Given the description of an element on the screen output the (x, y) to click on. 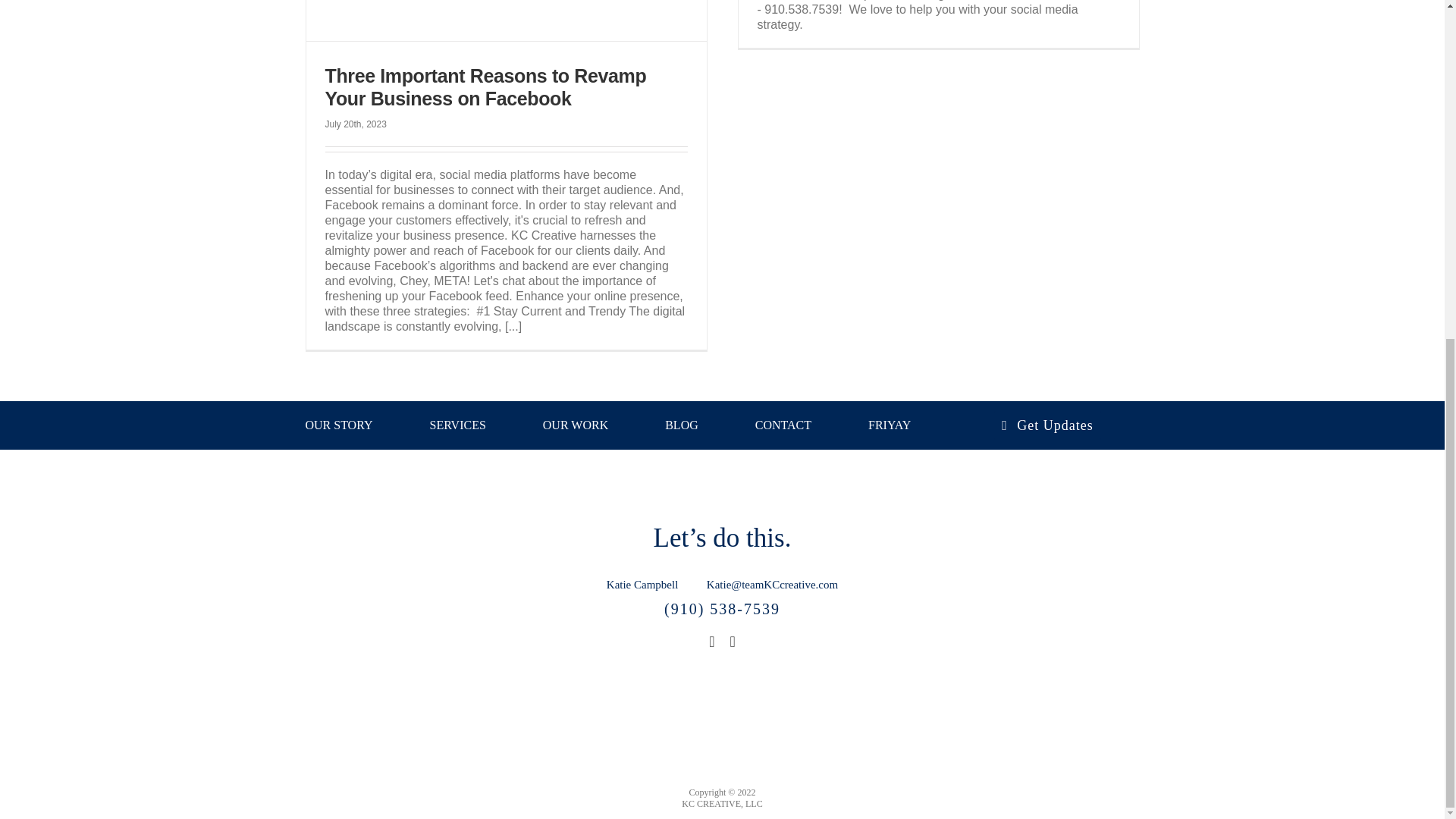
SERVICES (457, 425)
Get Updates (1047, 425)
FRIYAY (889, 425)
BLOG (681, 425)
CONTACT (782, 425)
OUR STORY (338, 425)
Three Important Reasons to Revamp Your Business on Facebook (485, 86)
OUR WORK (575, 425)
